Given the description of an element on the screen output the (x, y) to click on. 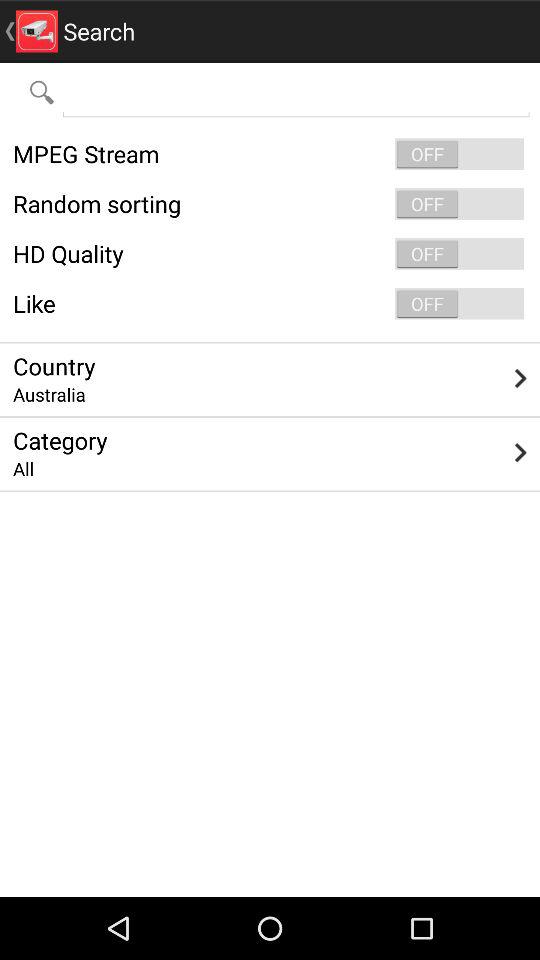
tap hd quality item (269, 253)
